Given the description of an element on the screen output the (x, y) to click on. 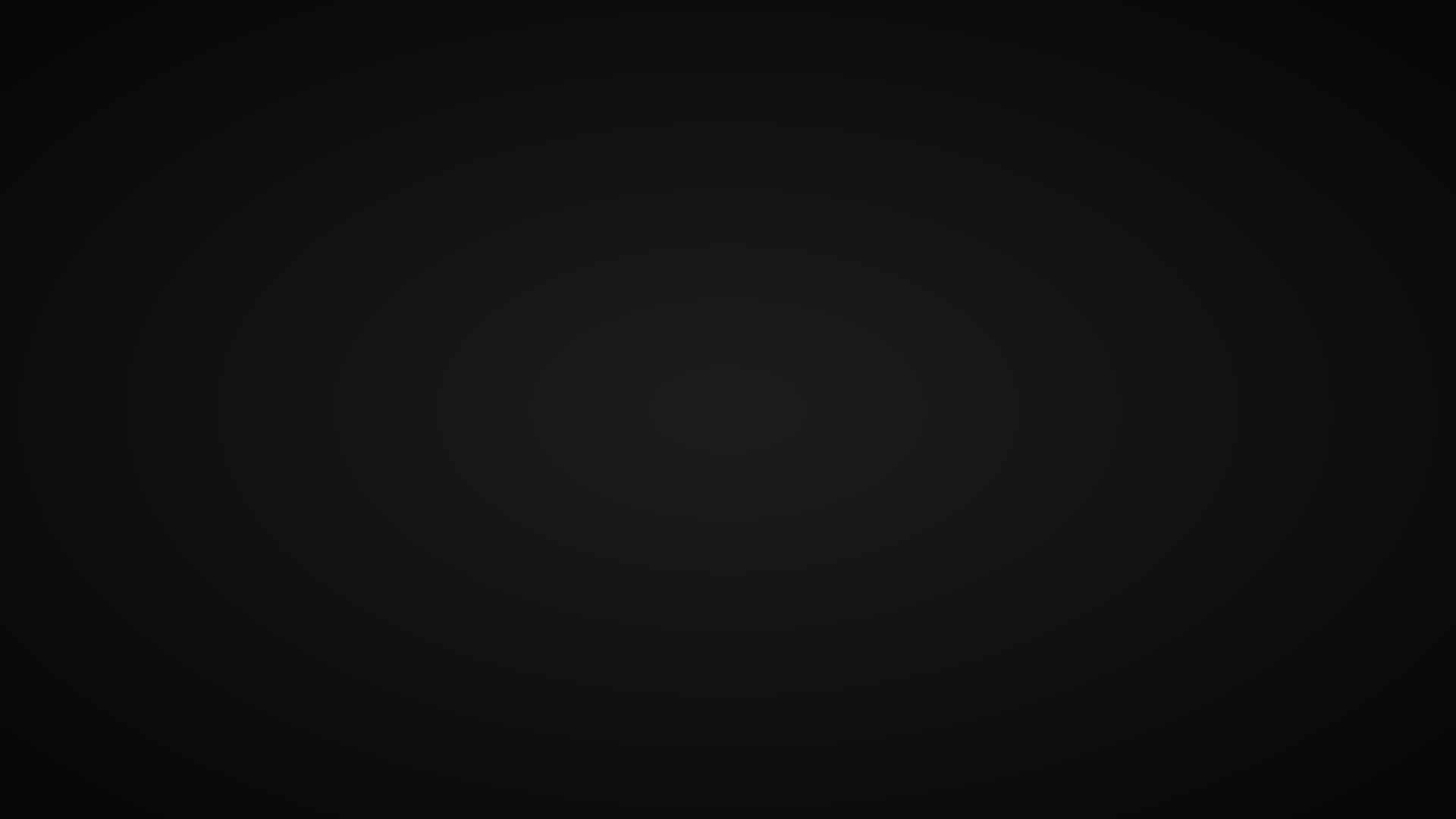
BACK TO TOP (727, 572)
HOME (908, 41)
PROJECTS (1055, 41)
NEXT (1390, 439)
ABOUT US (976, 41)
PREV (65, 439)
BLOG (1379, 41)
BENEFITS (1135, 41)
PANOPLANNING (103, 41)
CONTACT (1314, 41)
